Given the description of an element on the screen output the (x, y) to click on. 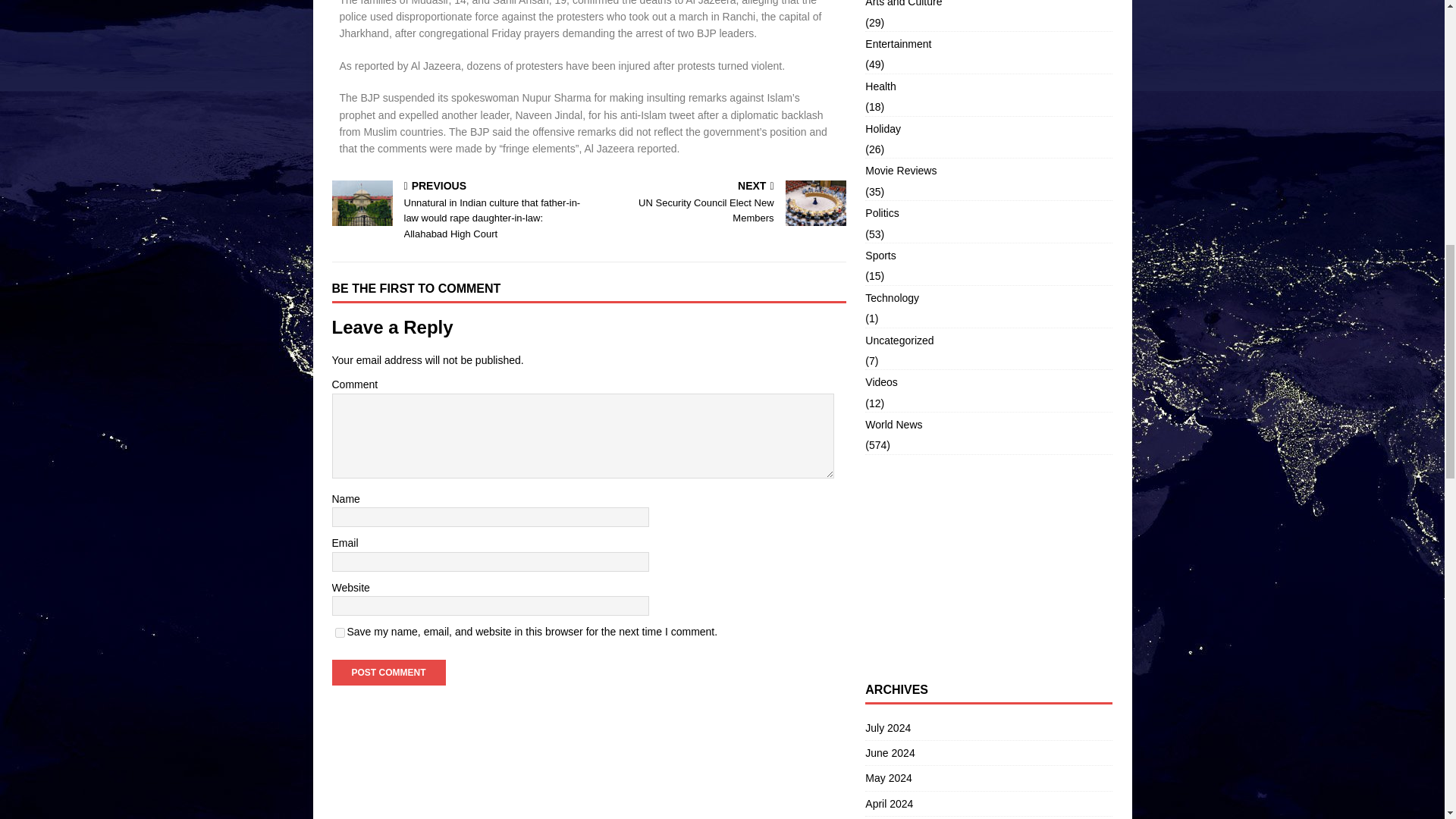
Technology (988, 297)
Post Comment (388, 672)
Uncategorized (988, 339)
Advertisement (988, 568)
Health (988, 86)
Videos (720, 203)
Holiday (988, 381)
Arts and Culture (988, 128)
Politics (988, 6)
Post Comment (988, 212)
Entertainment (388, 672)
yes (988, 43)
Movie Reviews (339, 633)
